Given the description of an element on the screen output the (x, y) to click on. 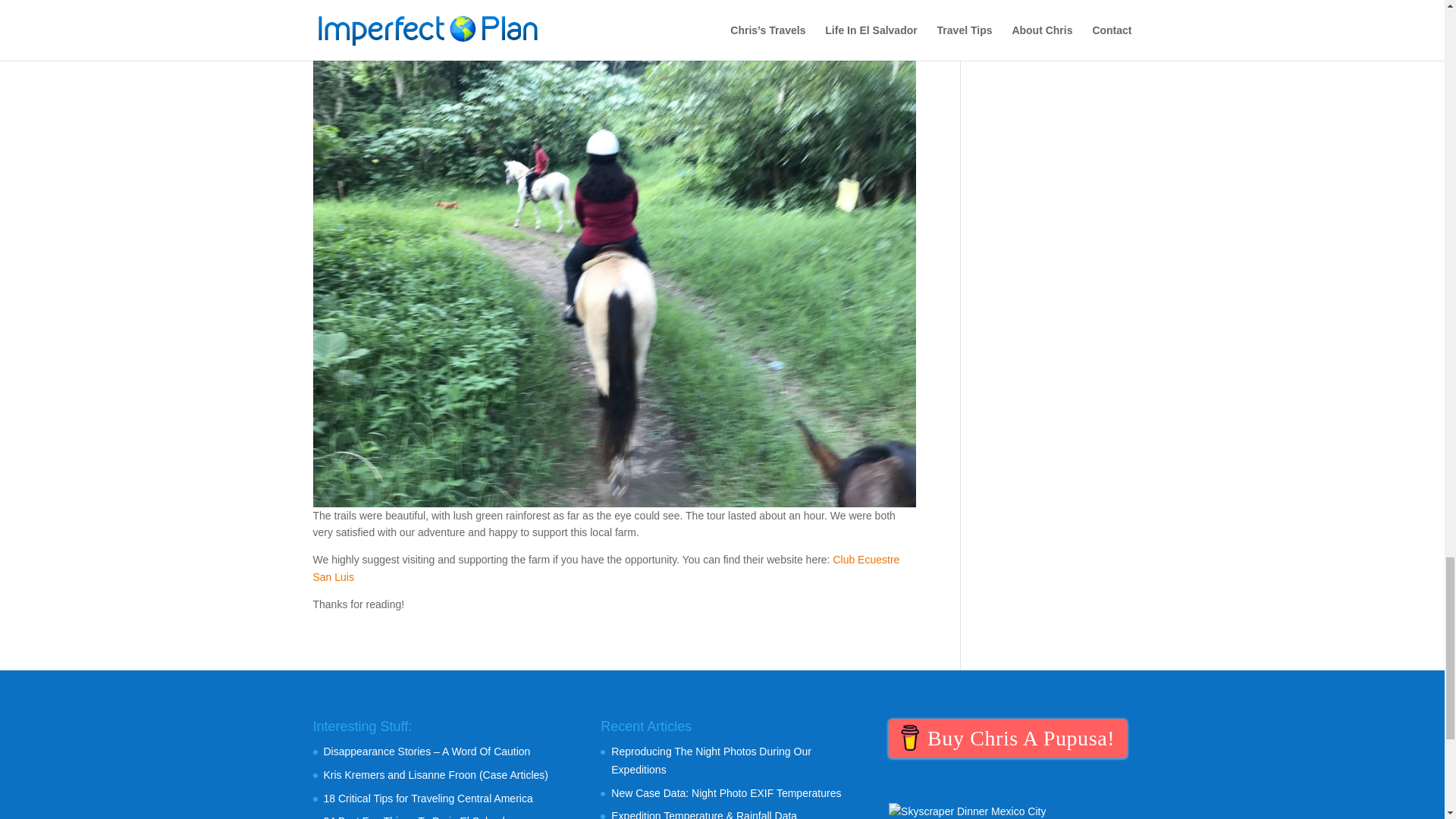
Reproducing The Night Photos During Our Expeditions (710, 760)
Club Ecuestre San Luis (606, 567)
24 Best Fun Things To Do in El Salvador (418, 816)
New Case Data: Night Photo EXIF Temperatures (726, 793)
18 Critical Tips for Traveling Central America (427, 797)
